Given the description of an element on the screen output the (x, y) to click on. 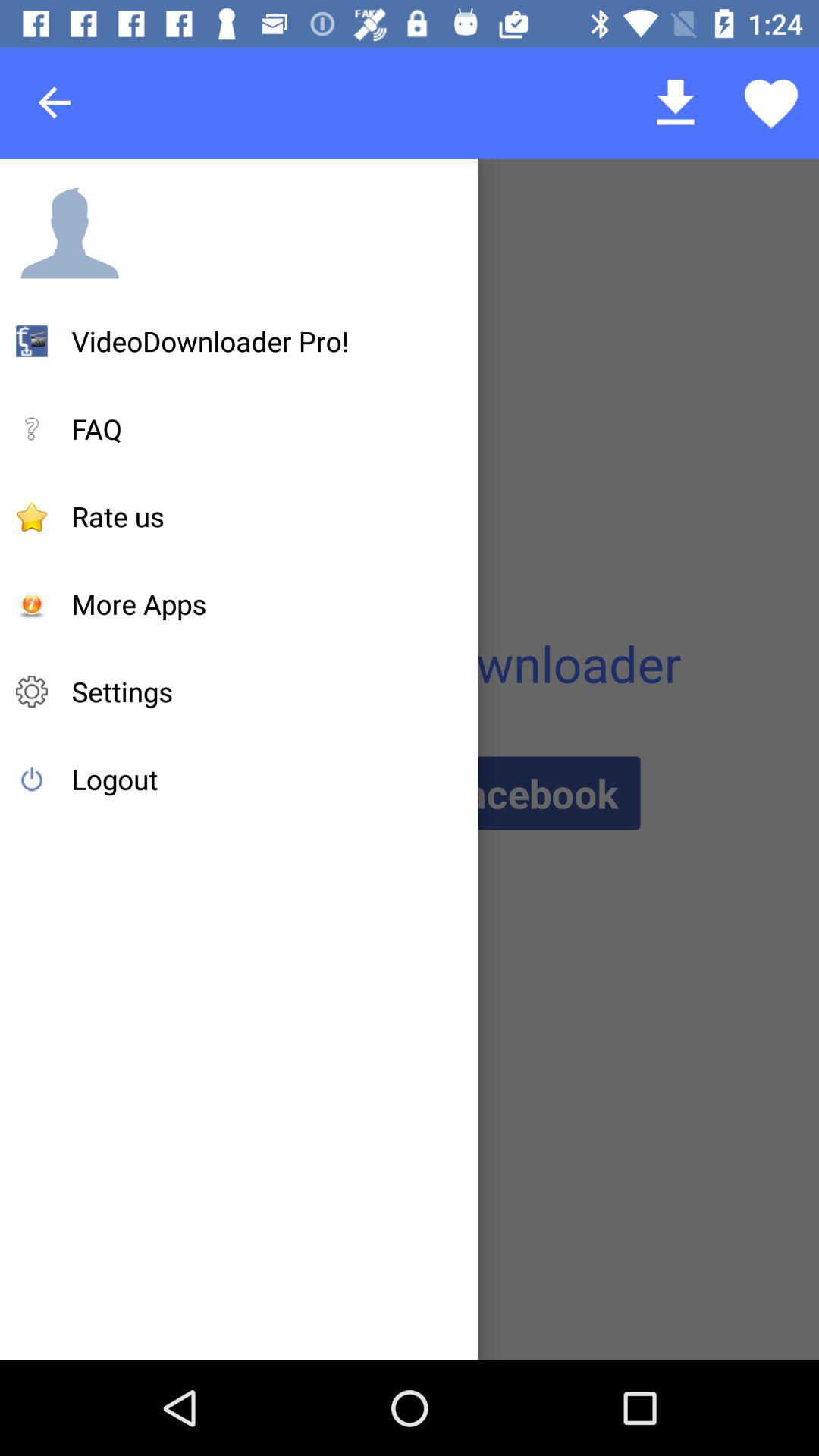
flip until the faq item (96, 428)
